Given the description of an element on the screen output the (x, y) to click on. 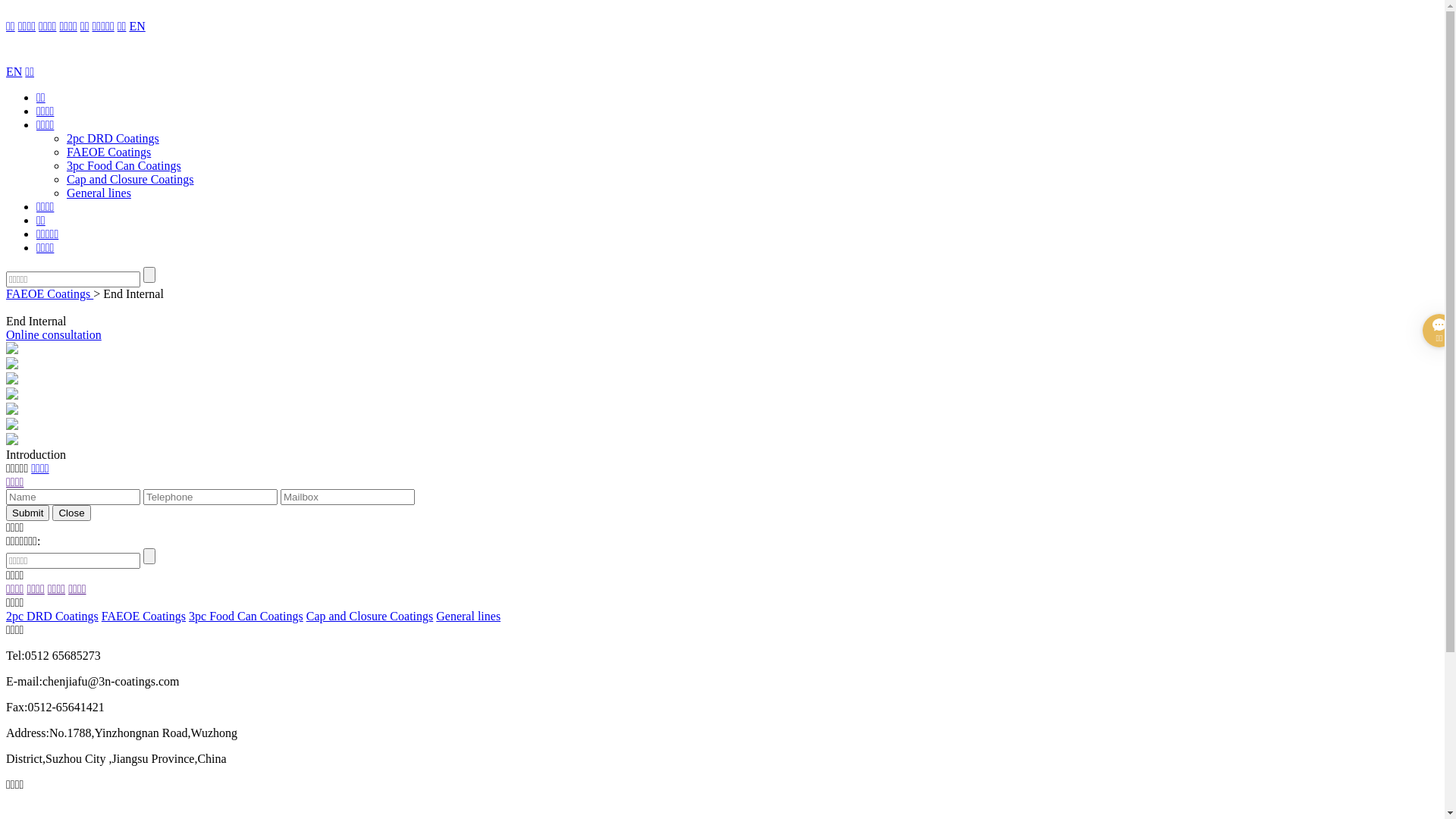
3pc Food Can Coatings Element type: text (245, 615)
2pc DRD Coatings Element type: text (112, 137)
General lines Element type: text (468, 615)
Cap and Closure Coatings Element type: text (130, 178)
FAEOE Coatings Element type: text (143, 615)
Cap and Closure Coatings Element type: text (369, 615)
End Internal Element type: text (133, 293)
EN Element type: text (13, 71)
3pc Food Can Coatings Element type: text (123, 165)
2pc DRD Coatings Element type: text (52, 615)
Submit Element type: text (27, 512)
Online consultation Element type: text (53, 334)
FAEOE Coatings Element type: text (49, 293)
General lines Element type: text (98, 192)
EN Element type: text (136, 25)
FAEOE Coatings Element type: text (108, 151)
